Given the description of an element on the screen output the (x, y) to click on. 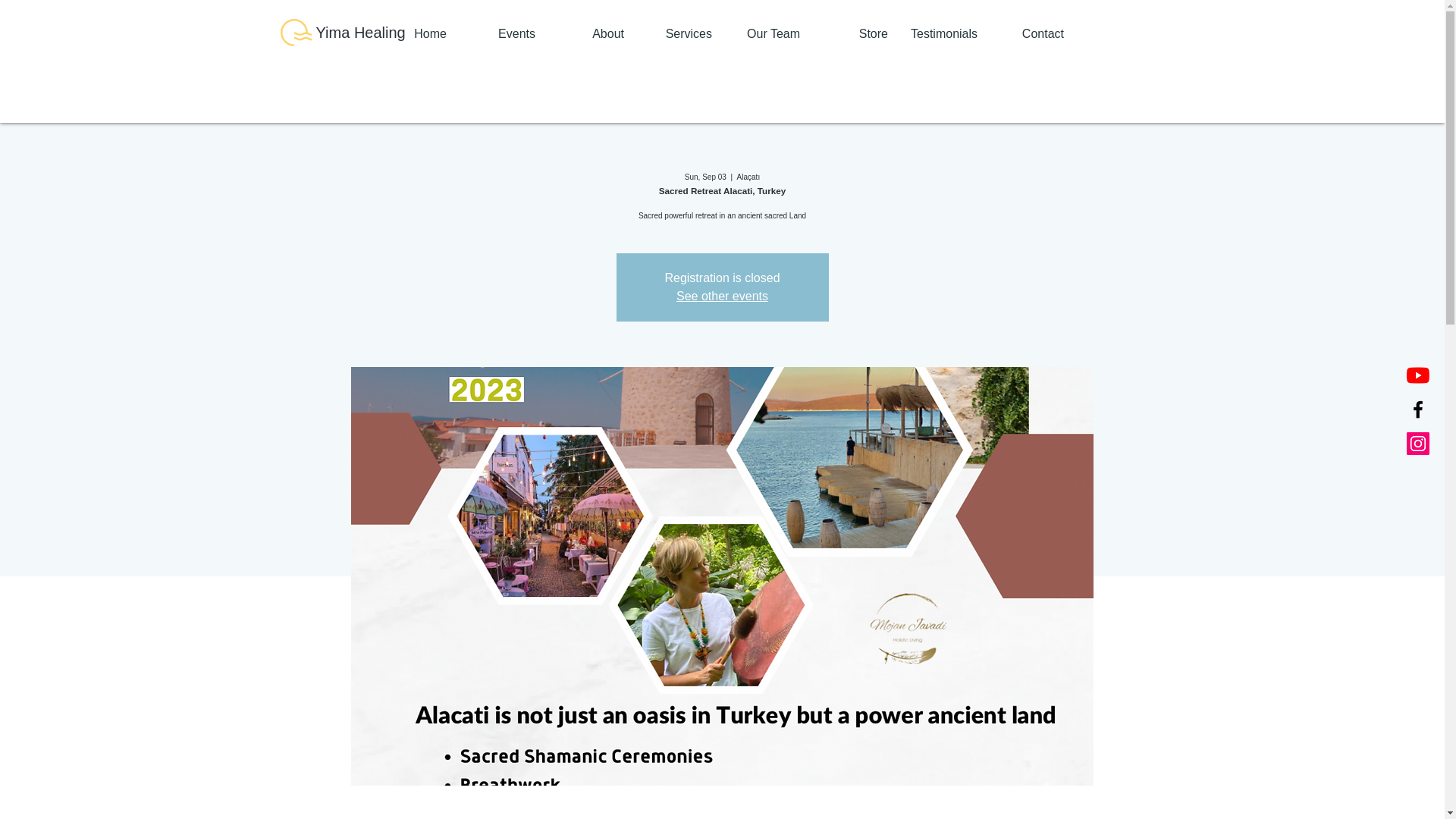
Our Team (766, 34)
Events (502, 34)
Store (854, 34)
Yima Healing (383, 32)
See other events (722, 295)
Testimonials (943, 34)
Home (413, 34)
Services (678, 34)
About (590, 34)
Contact (1031, 34)
